Given the description of an element on the screen output the (x, y) to click on. 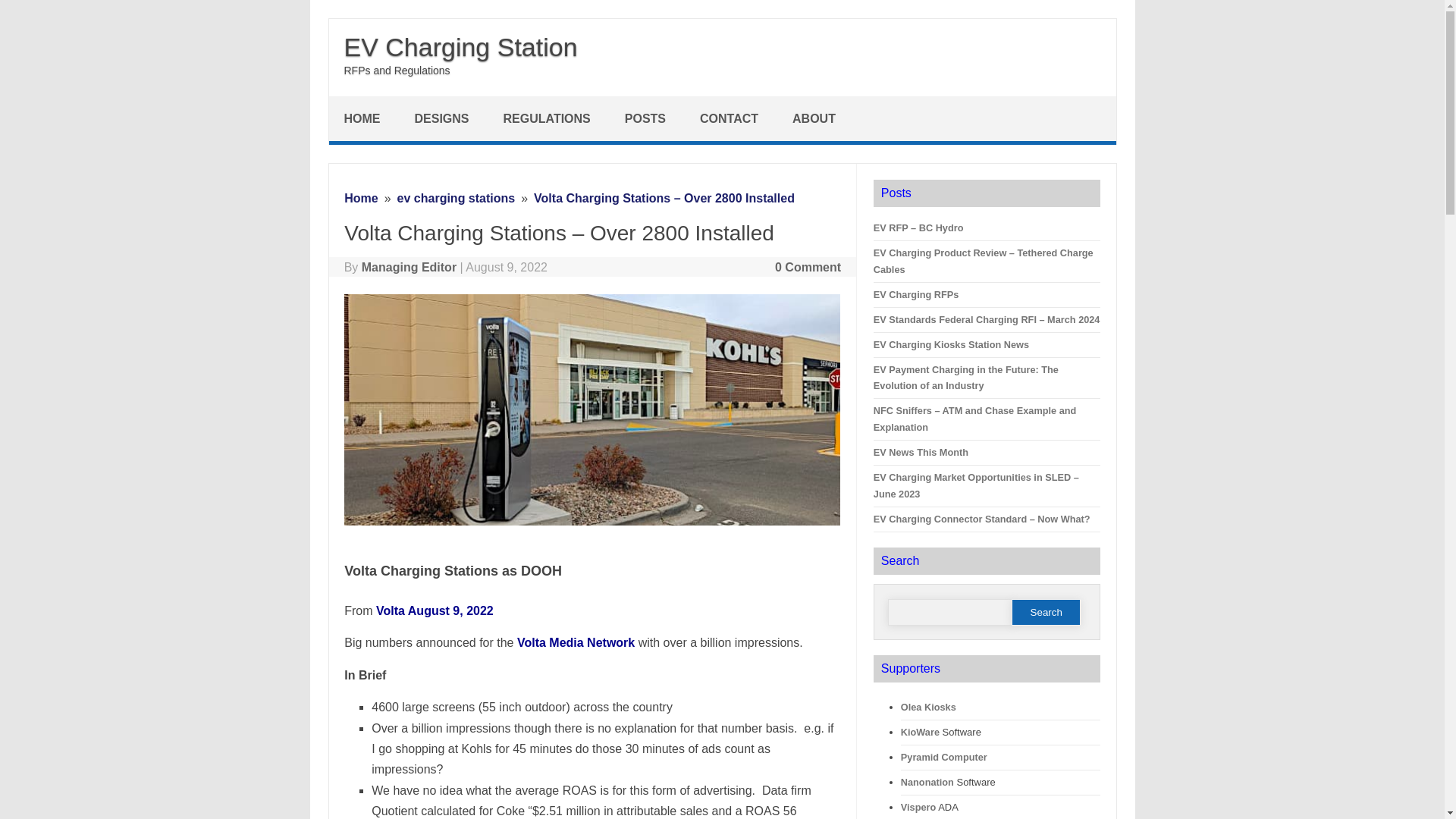
CONTACT (730, 118)
DESIGNS (442, 118)
ev charging stations (456, 197)
HOME (363, 118)
EV Charging Station (460, 46)
Volta August 9, 2022 (434, 610)
Posts by Managing Editor (409, 267)
EV Charging Station (460, 46)
REGULATIONS (548, 118)
ABOUT (815, 118)
Search (1045, 611)
Home (360, 197)
Volta Media Network (575, 642)
POSTS (647, 118)
0 Comment (807, 267)
